Given the description of an element on the screen output the (x, y) to click on. 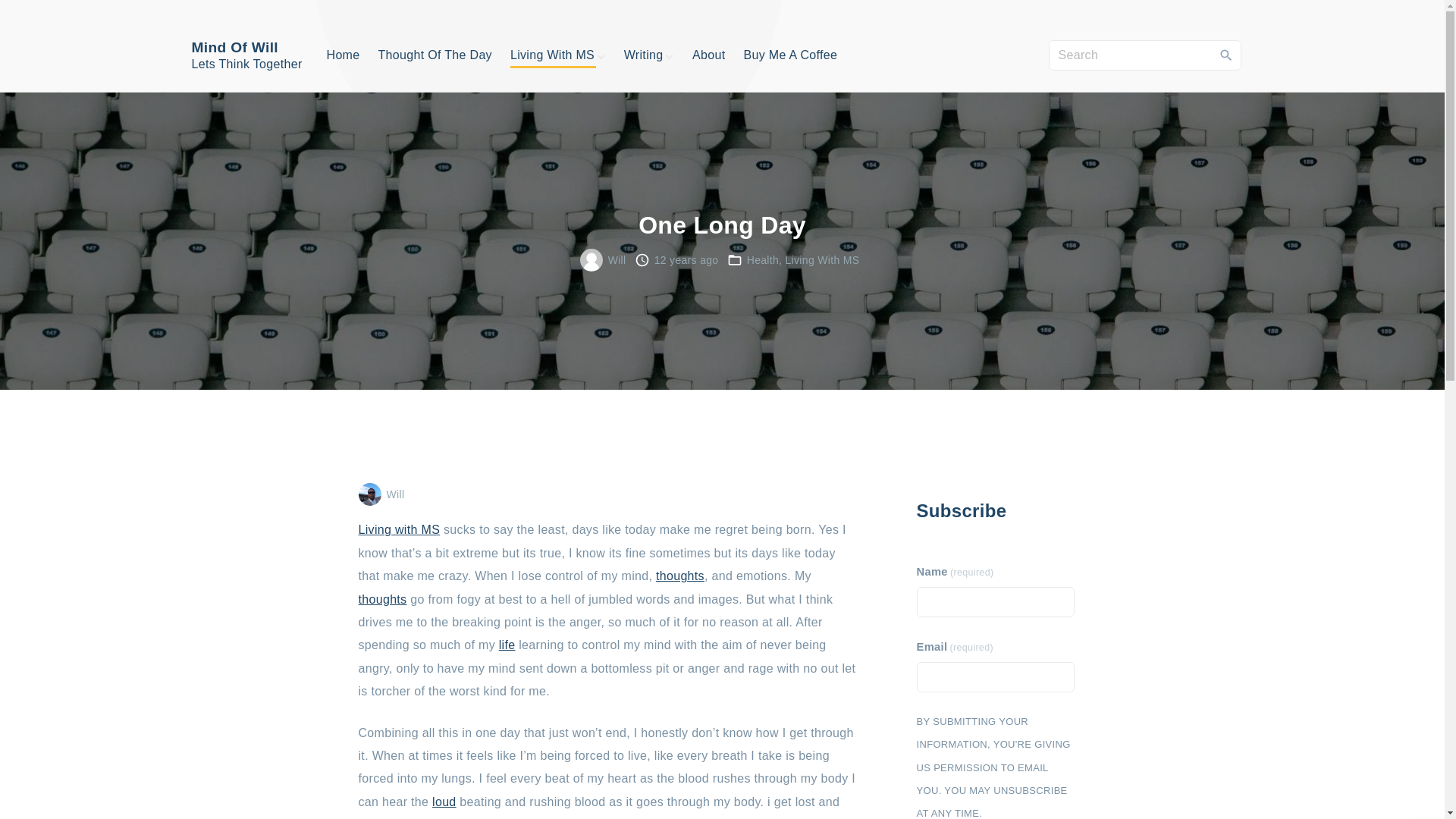
Posts by Will (395, 494)
Living With MS (823, 259)
life (507, 644)
Living with MS (398, 529)
Living with MS (398, 529)
About (709, 54)
Health (762, 259)
Buy Me A Coffee (789, 54)
Will (617, 259)
thoughts (382, 599)
Writing (643, 54)
life (507, 644)
Thought Of The Day (434, 54)
Will (395, 494)
loud (444, 801)
